Given the description of an element on the screen output the (x, y) to click on. 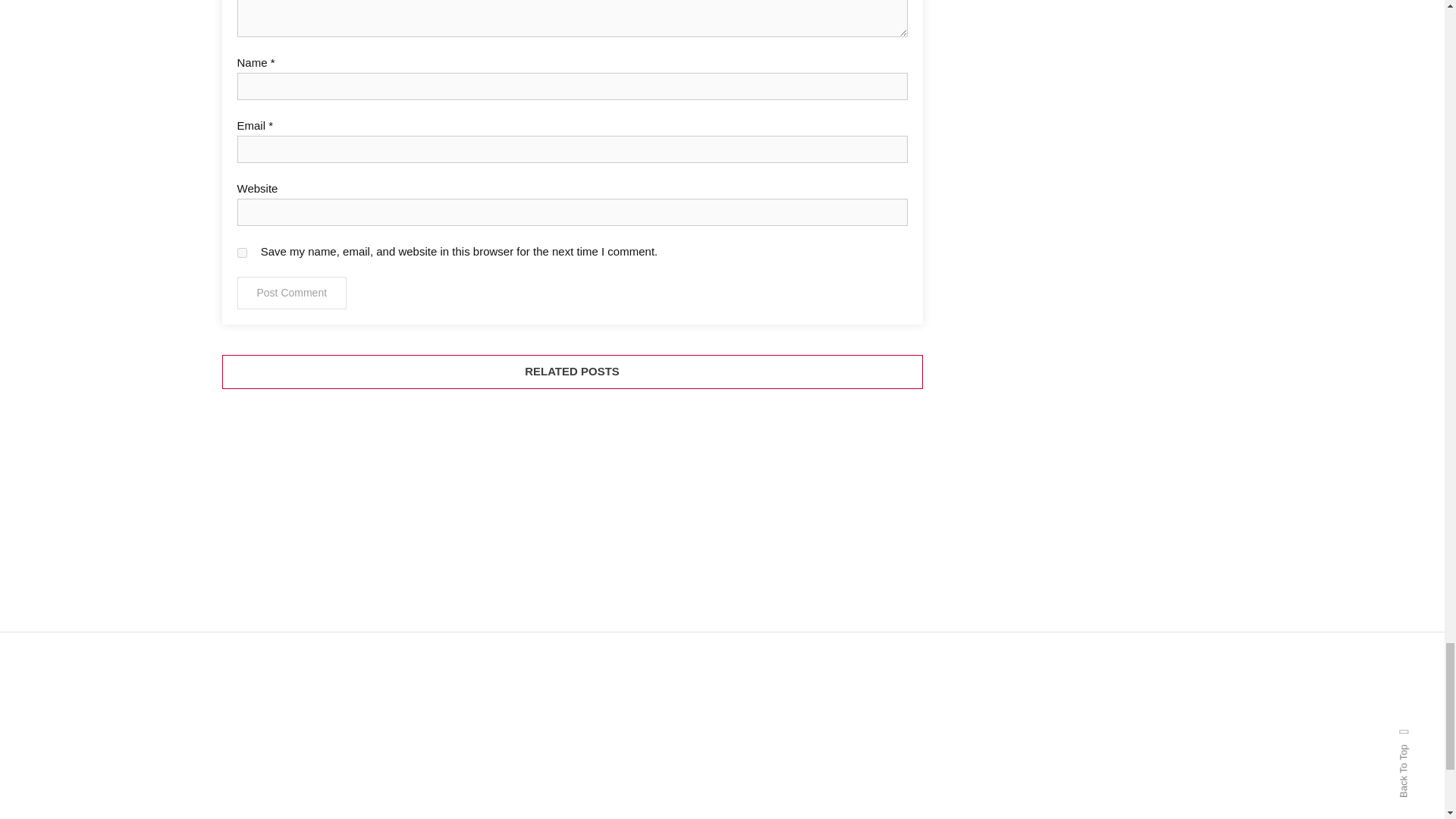
Post Comment (290, 292)
yes (240, 252)
Post Comment (290, 292)
